Given the description of an element on the screen output the (x, y) to click on. 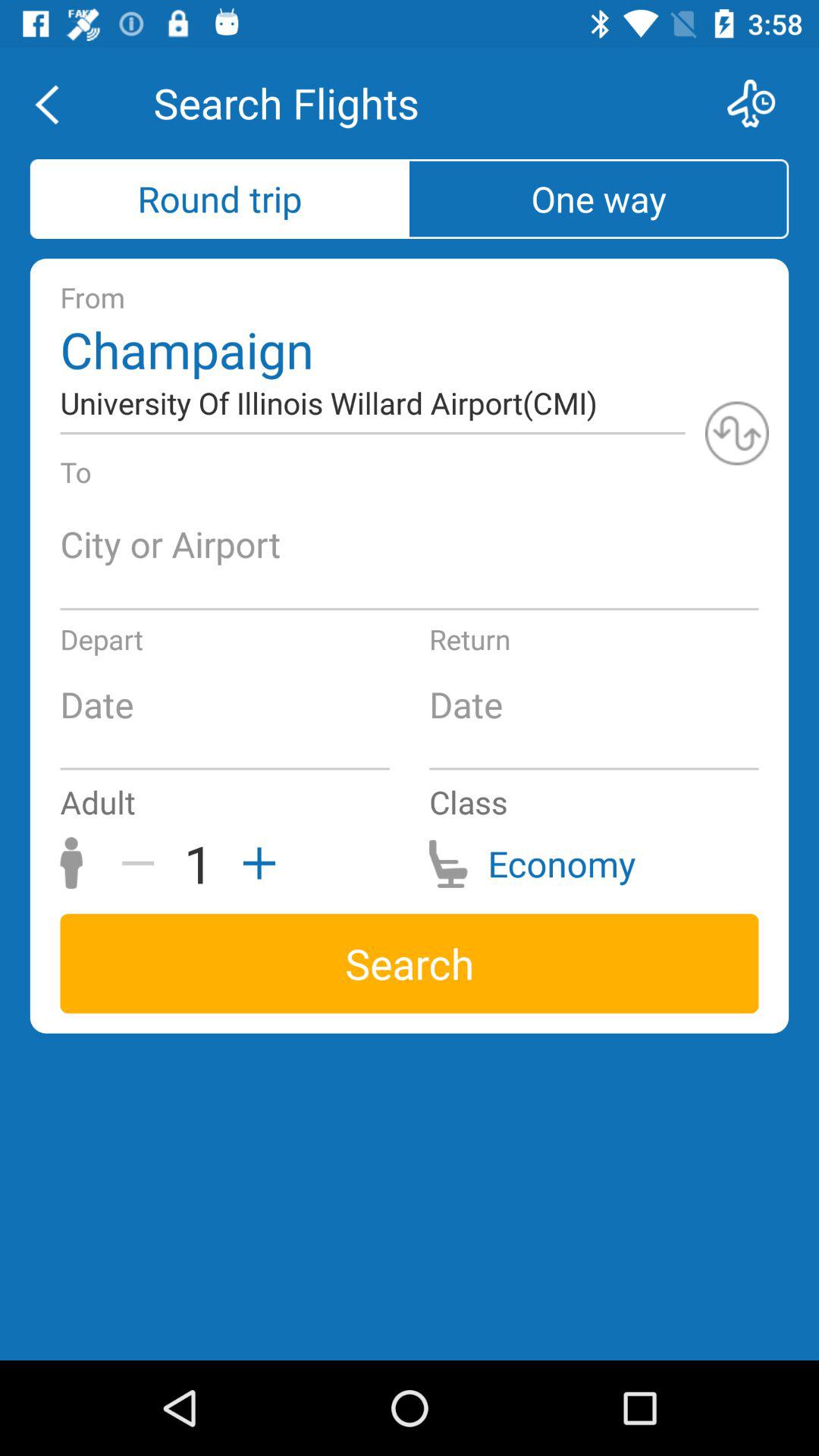
choose item below the champaign icon (736, 433)
